Given the description of an element on the screen output the (x, y) to click on. 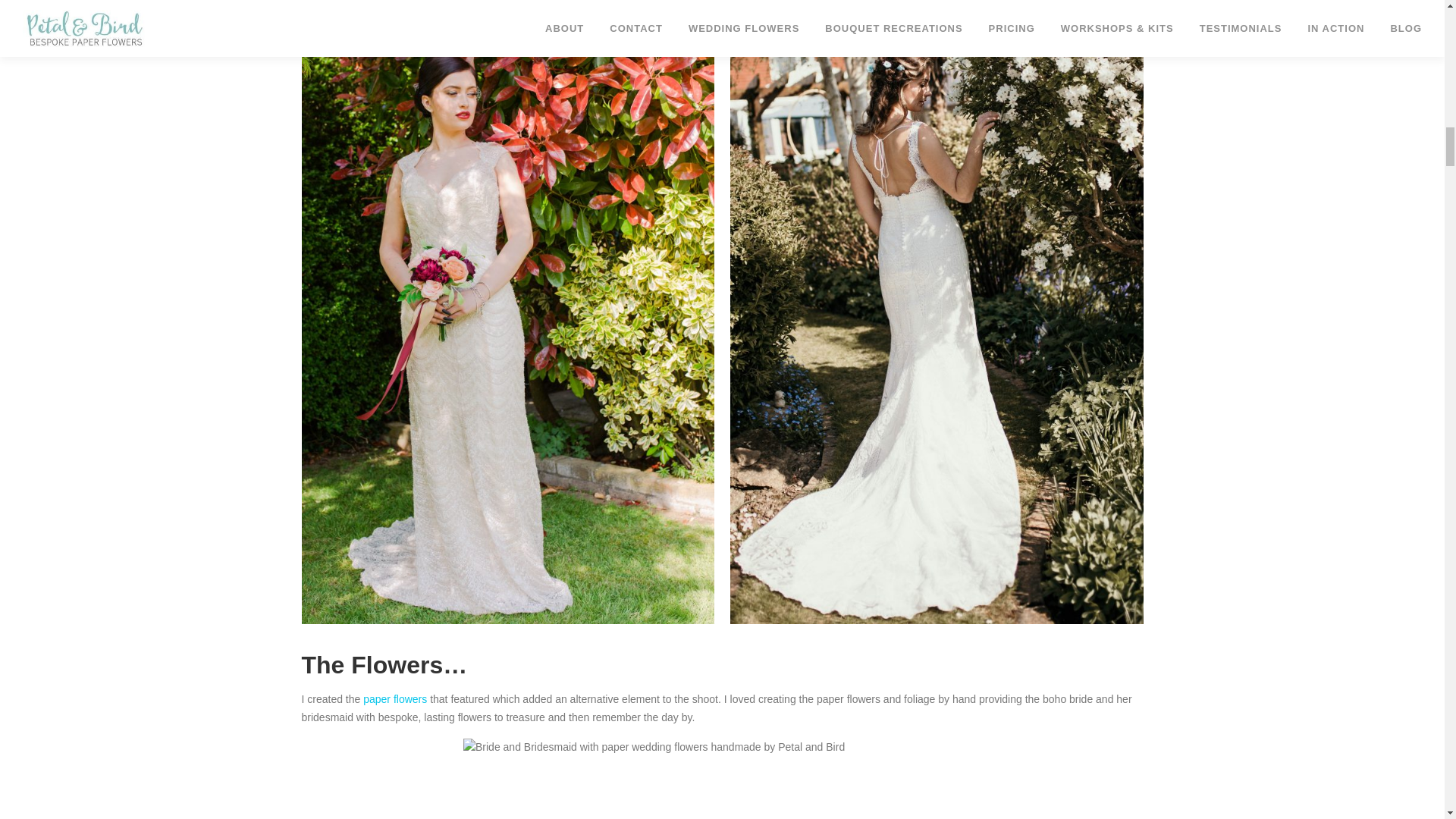
paper flowers (394, 698)
